Given the description of an element on the screen output the (x, y) to click on. 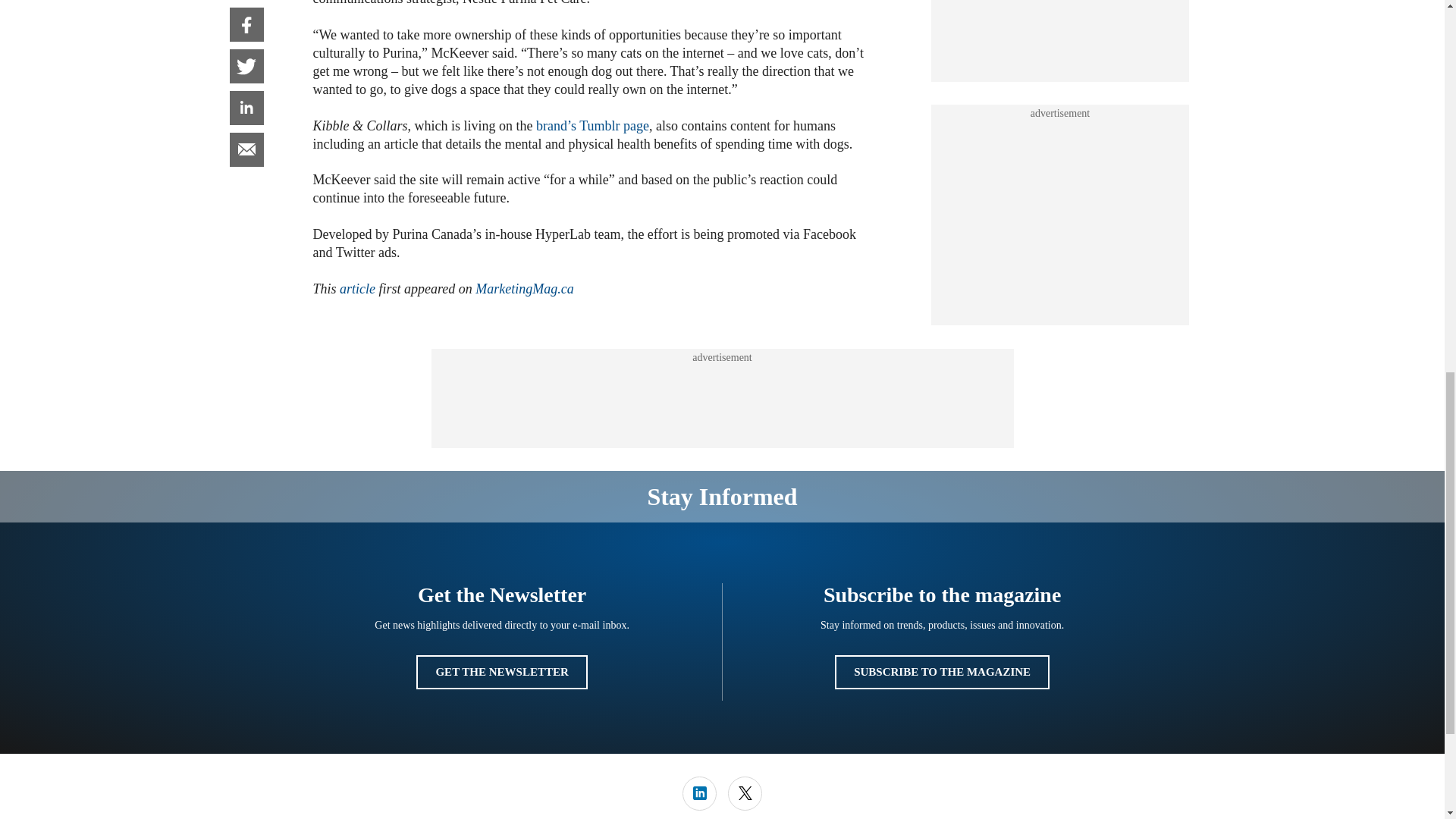
3rd party ad content (1059, 215)
3rd party ad content (721, 398)
3rd party ad content (1059, 33)
